Given the description of an element on the screen output the (x, y) to click on. 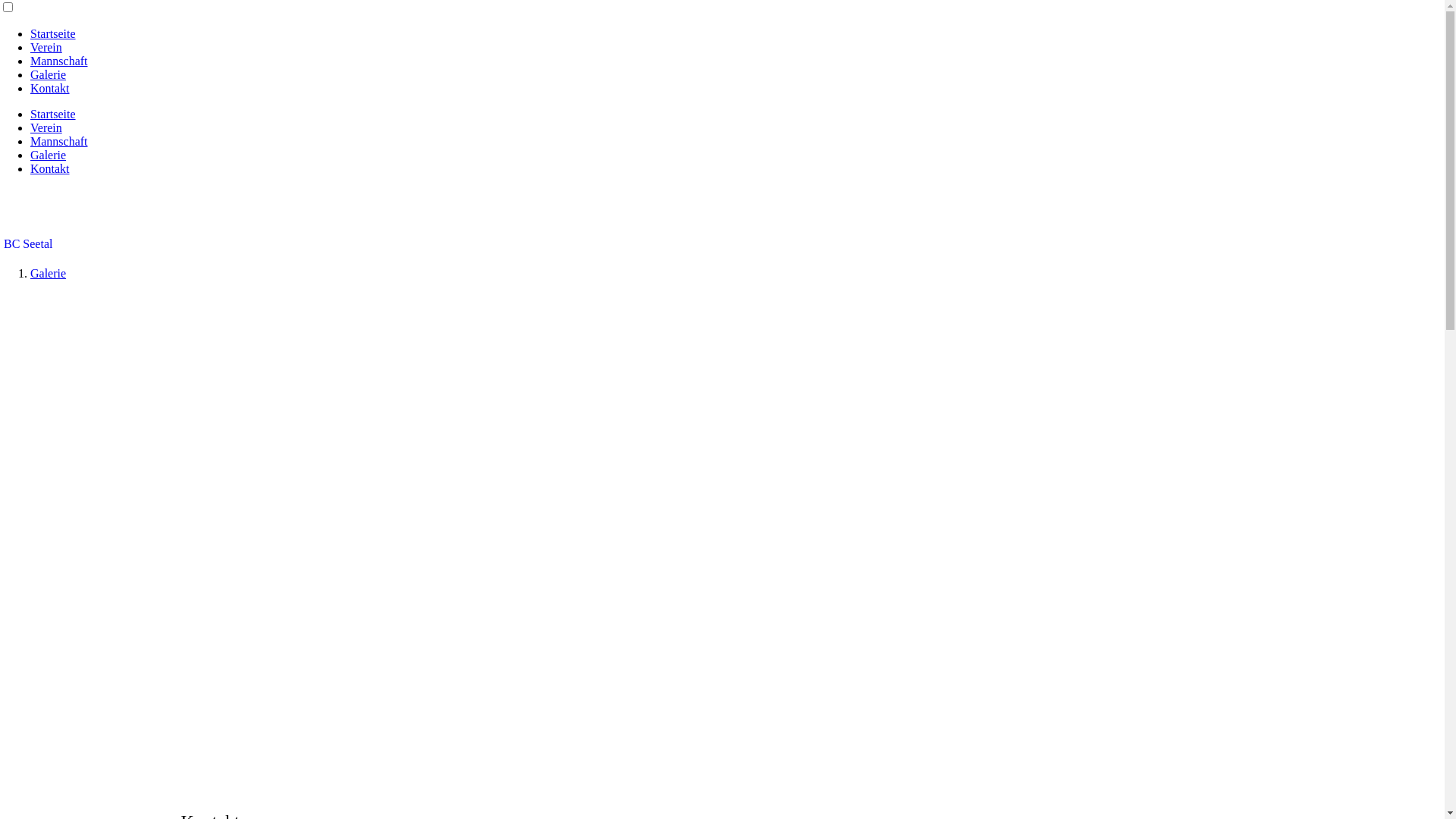
Galerie Element type: text (47, 154)
Verein Element type: text (46, 127)
Mannschaft Element type: text (58, 140)
Galerie Element type: text (47, 74)
Startseite Element type: text (52, 33)
Kontakt Element type: text (49, 87)
Startseite Element type: text (52, 113)
Galerie Element type: text (47, 272)
Verein Element type: text (46, 46)
Mannschaft Element type: text (58, 60)
BC Seetal Element type: text (27, 243)
Kontakt Element type: text (49, 168)
